Given the description of an element on the screen output the (x, y) to click on. 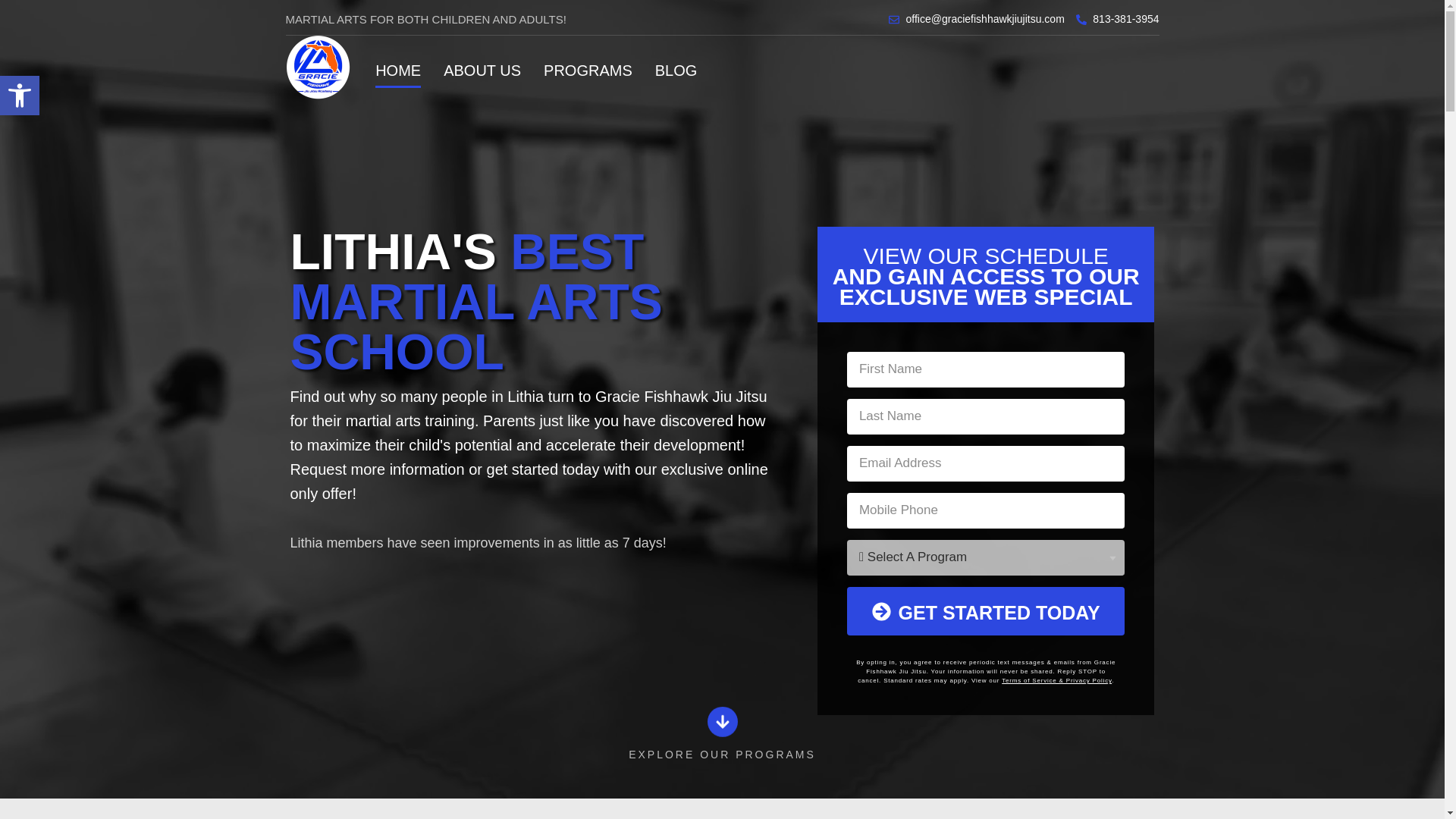
Accessibility Tools (19, 95)
ABOUT US (482, 70)
Email (976, 19)
Mobile (1116, 19)
813-381-3954 (1116, 19)
BLOG (676, 70)
HOME (397, 70)
GET STARTED TODAY (986, 611)
EXPLORE OUR PROGRAMS (721, 754)
PROGRAMS (587, 70)
Explore more (721, 754)
EXPLORE OUR PROGRAMS (721, 723)
